Given the description of an element on the screen output the (x, y) to click on. 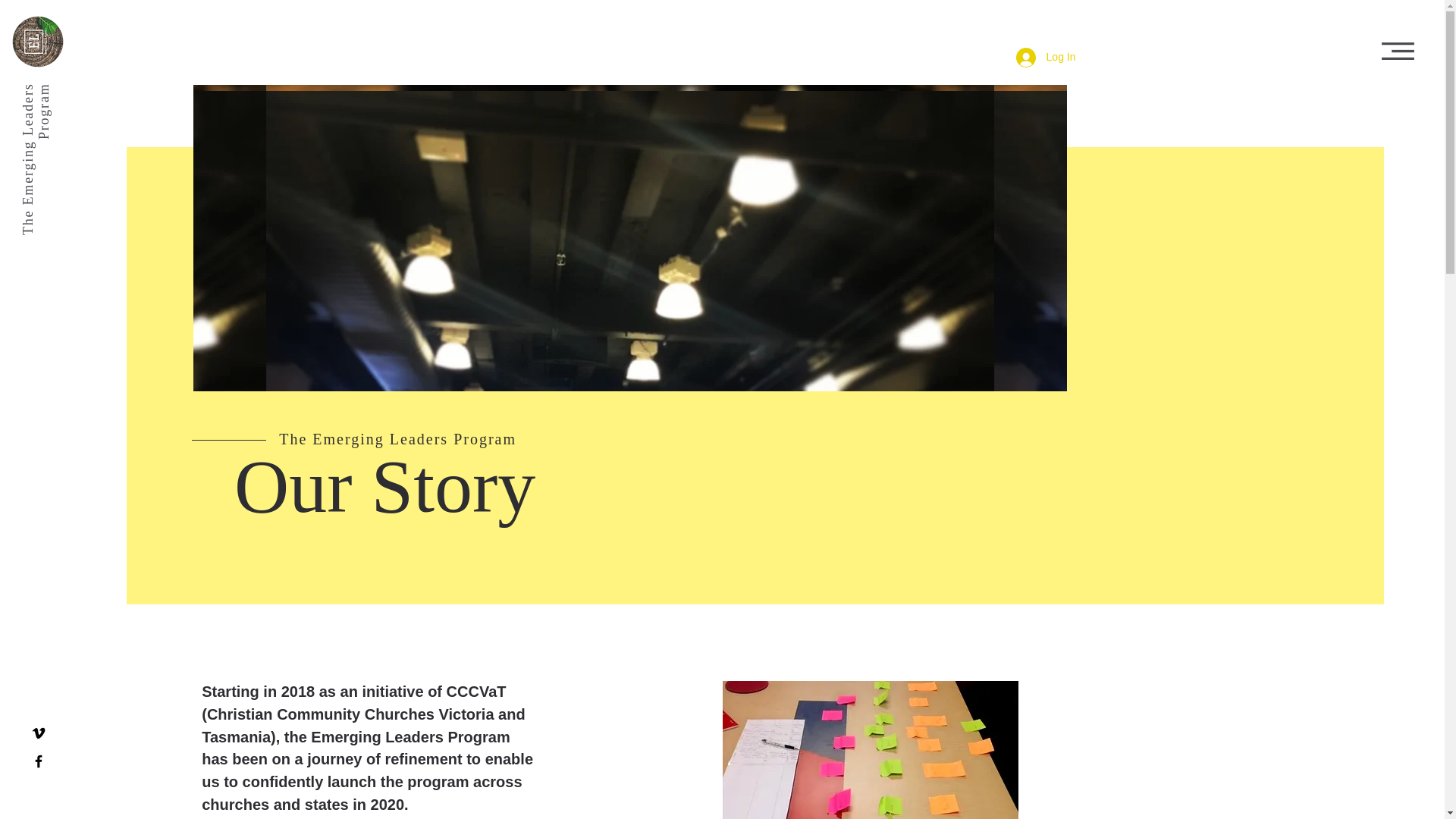
The Emerging Leaders Program (95, 97)
Log In (1046, 57)
